Given the description of an element on the screen output the (x, y) to click on. 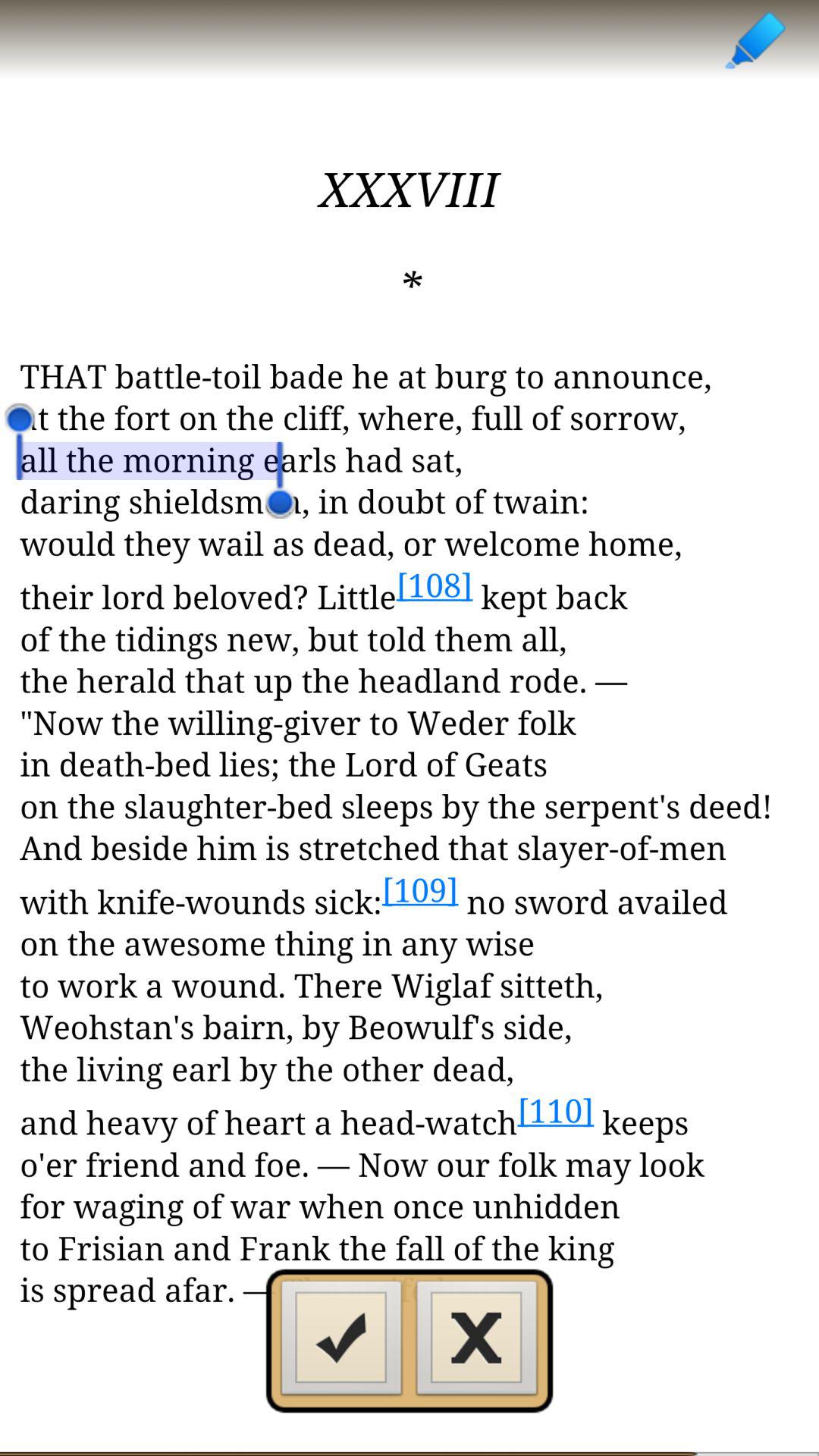
take a note (754, 39)
